Given the description of an element on the screen output the (x, y) to click on. 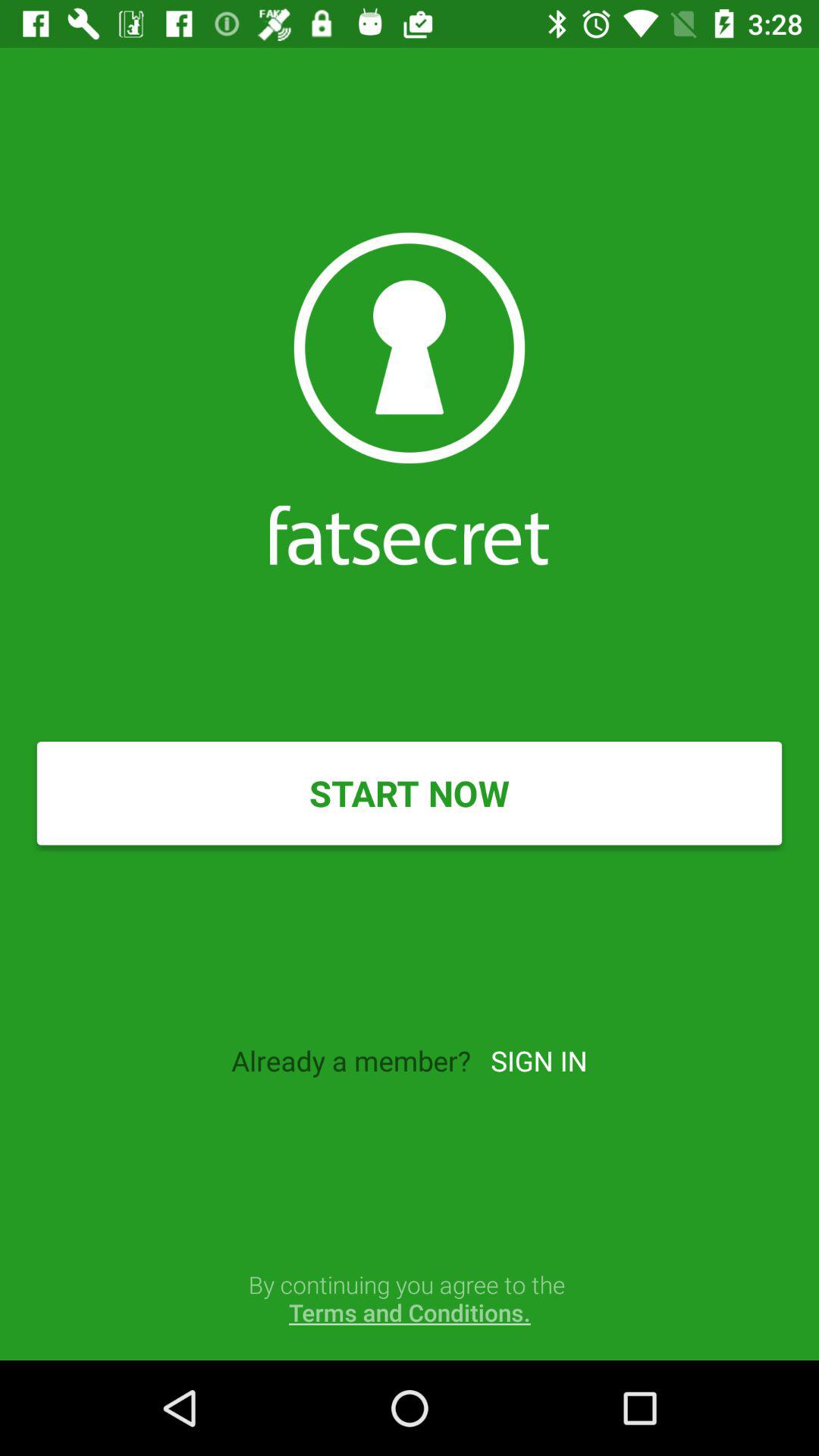
tap start now (409, 793)
